Given the description of an element on the screen output the (x, y) to click on. 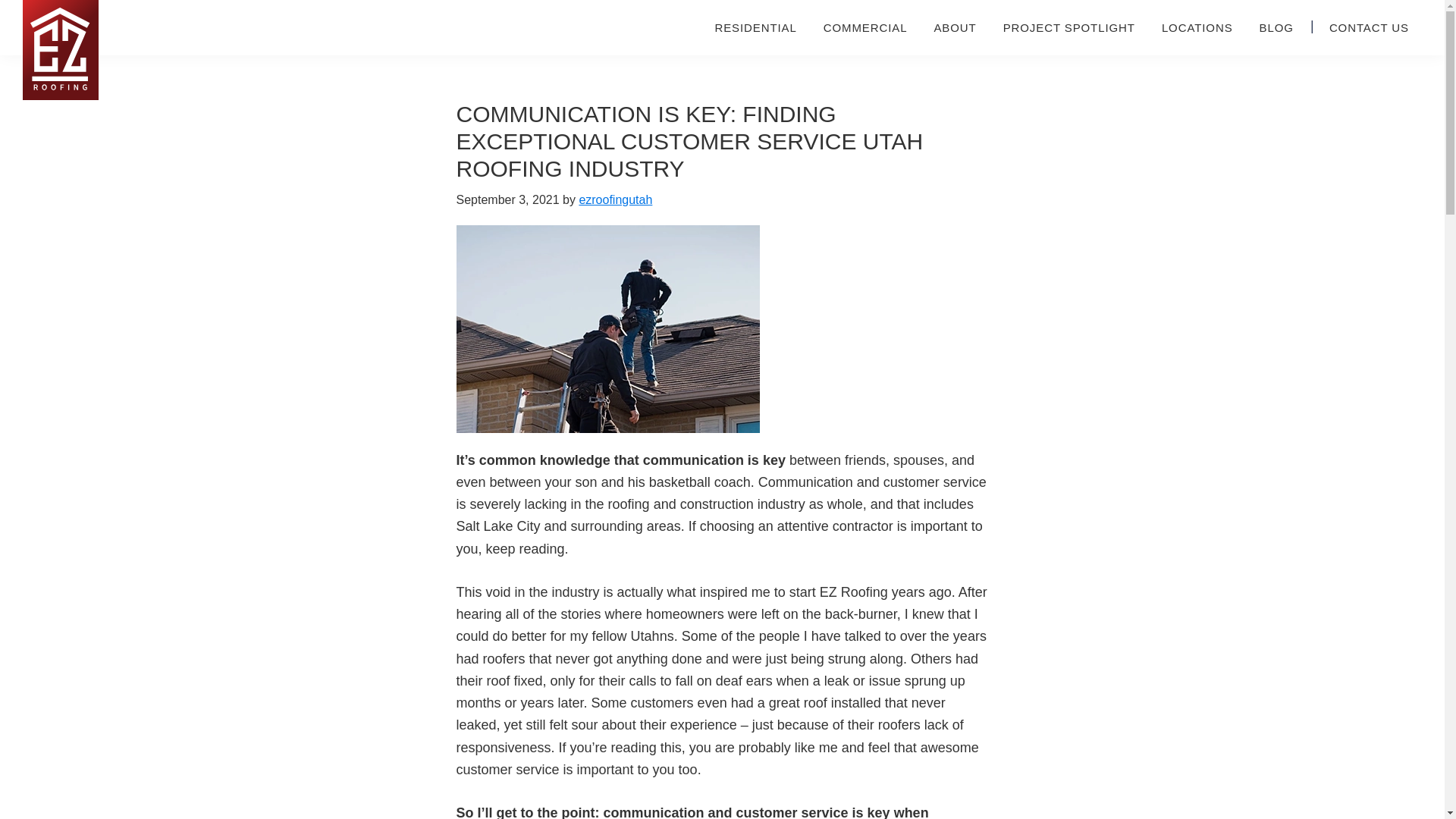
RESIDENTIAL (755, 27)
COMMERCIAL (865, 27)
